Given the description of an element on the screen output the (x, y) to click on. 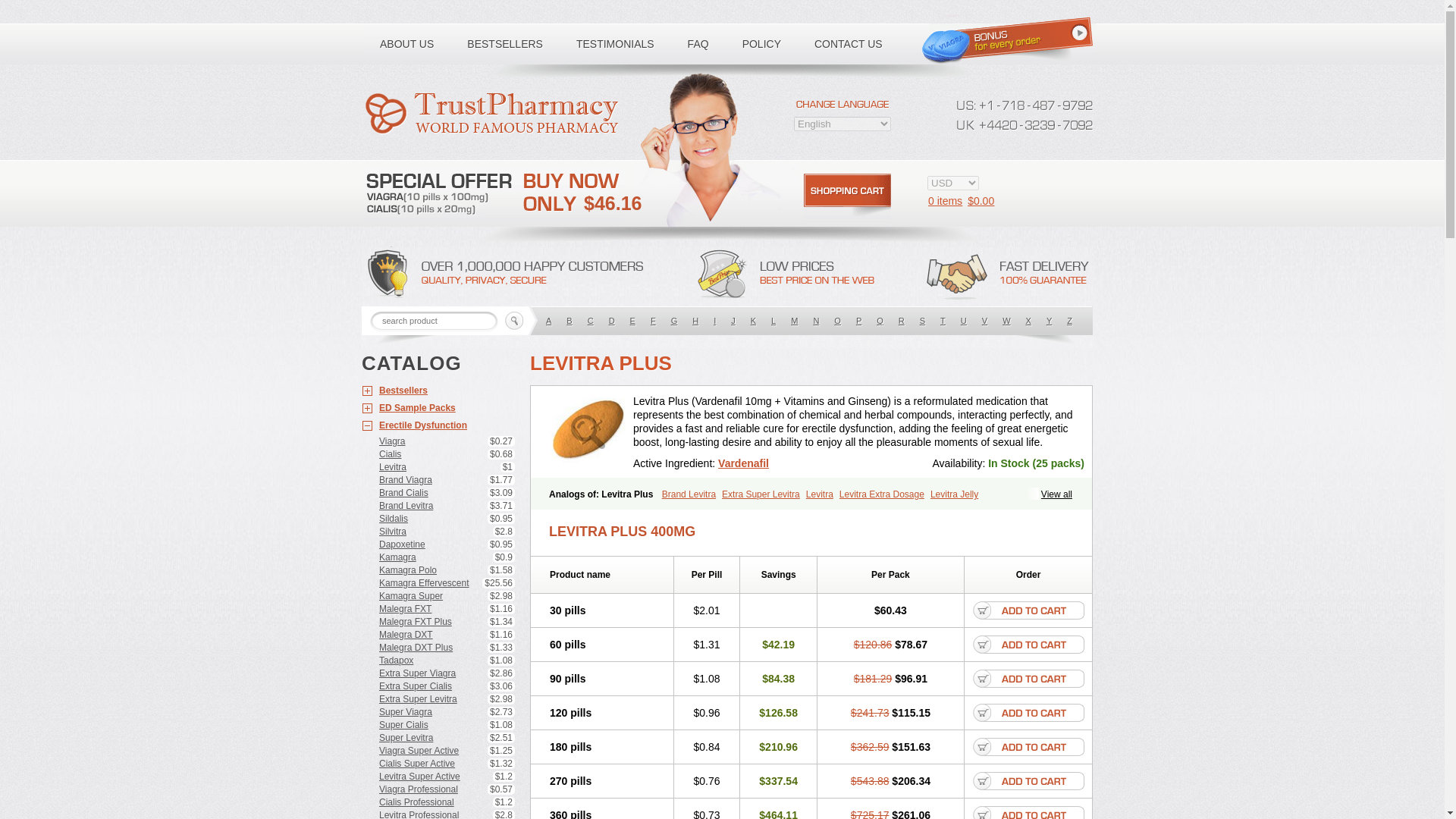
POLICY (761, 43)
ABOUT US (405, 43)
BESTSELLERS (504, 43)
TESTIMONIALS (615, 43)
Levitra Plus (588, 431)
FAQ (698, 43)
CONTACT US (848, 43)
Bestsellers (438, 390)
